Given the description of an element on the screen output the (x, y) to click on. 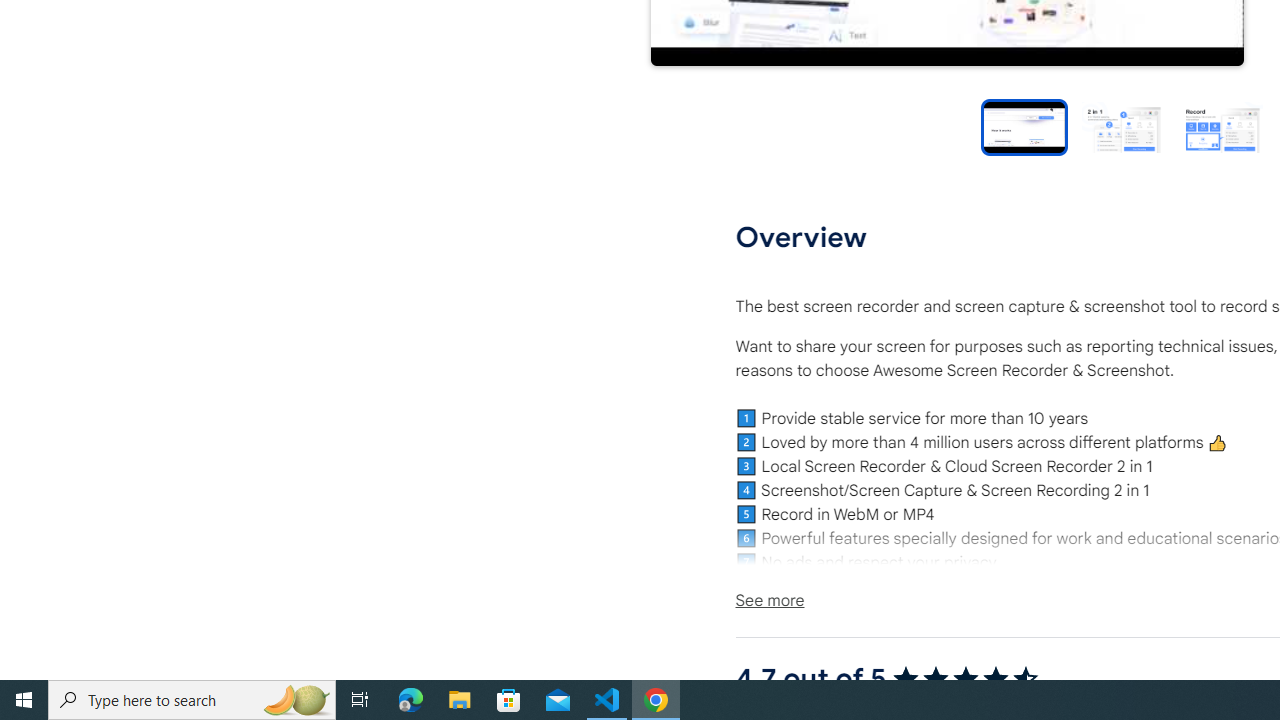
Preview slide 3 (1222, 126)
Preview slide 1 (1024, 126)
Item video thumbnail (1024, 126)
4.7 out of 5 stars (964, 678)
Preview slide 2 (1122, 126)
